Given the description of an element on the screen output the (x, y) to click on. 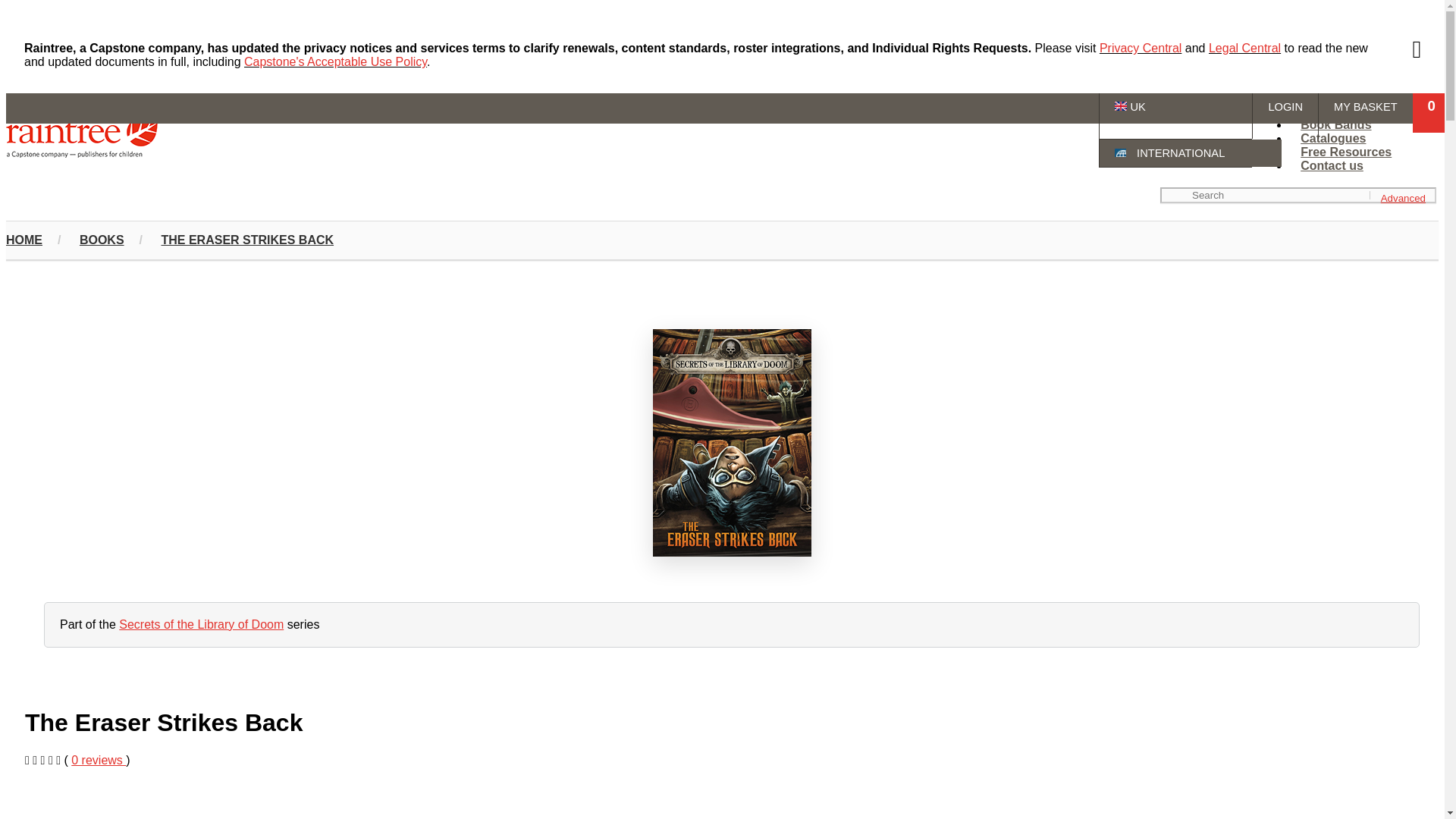
MY BASKET (1364, 115)
Privacy Central (1139, 47)
Toggle navigation (11, 113)
Legal Central (1244, 47)
Books (1318, 70)
LOGIN (1284, 115)
Capstone's Acceptable Use Policy (335, 61)
